Given the description of an element on the screen output the (x, y) to click on. 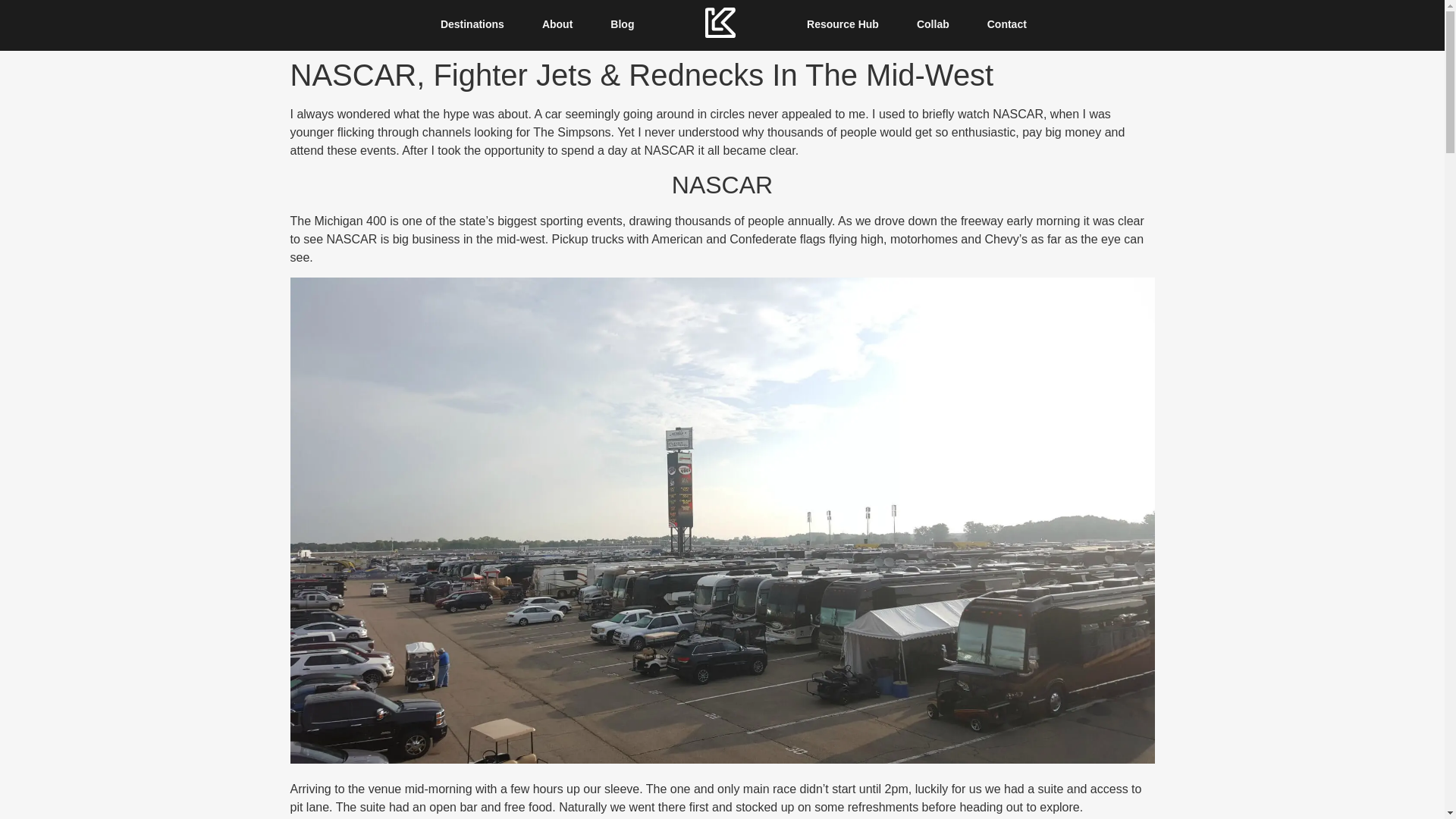
Resource Hub (841, 23)
About (557, 23)
Destinations (472, 23)
Contact (1006, 23)
Collab (932, 23)
Blog (621, 23)
